Given the description of an element on the screen output the (x, y) to click on. 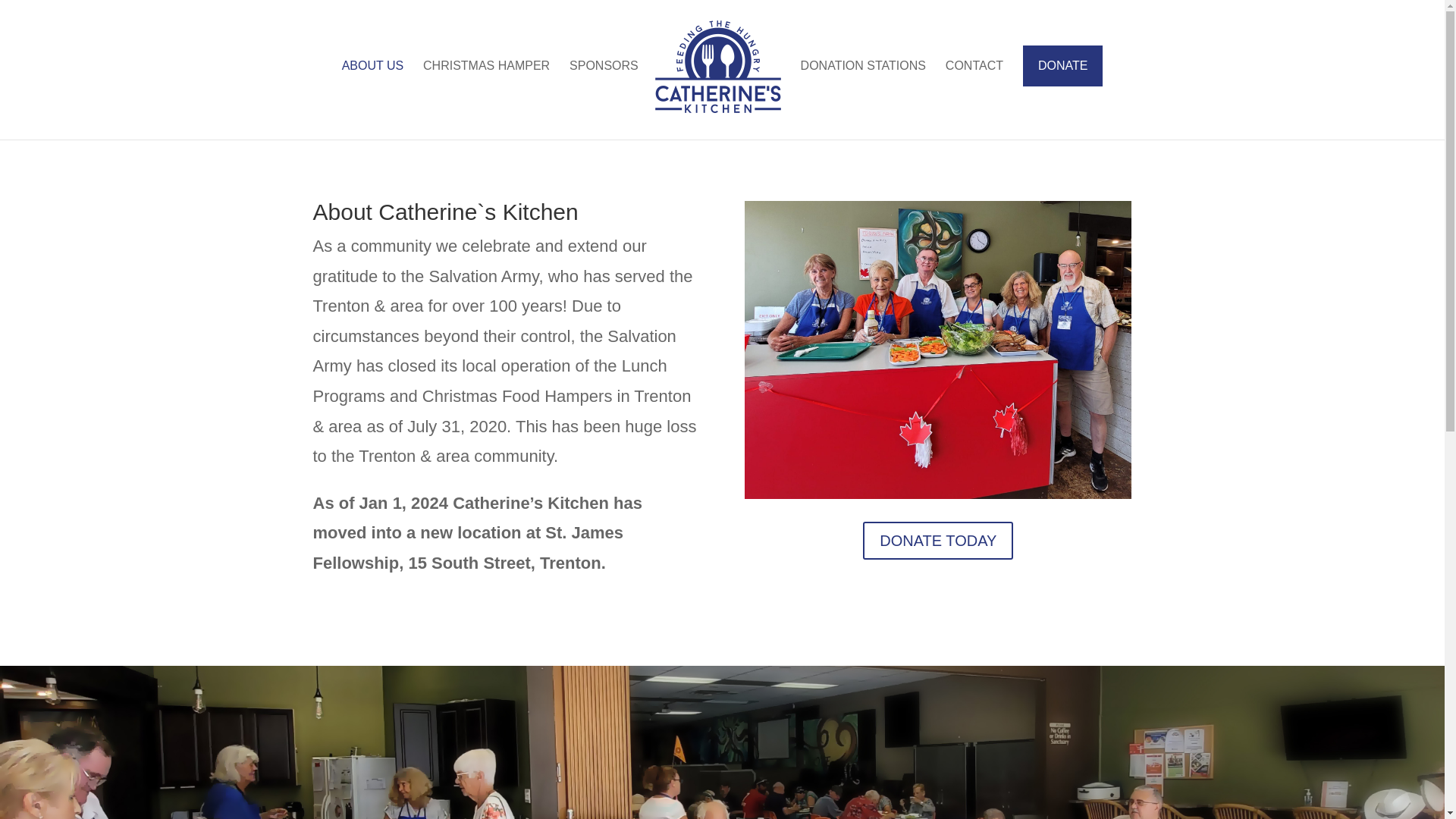
ABOUT US (373, 88)
DONATE (1062, 65)
DONATE TODAY (938, 540)
CHRISTMAS HAMPER (486, 88)
DONATION STATIONS (863, 88)
CONTACT (973, 88)
SPONSORS (604, 88)
